Given the description of an element on the screen output the (x, y) to click on. 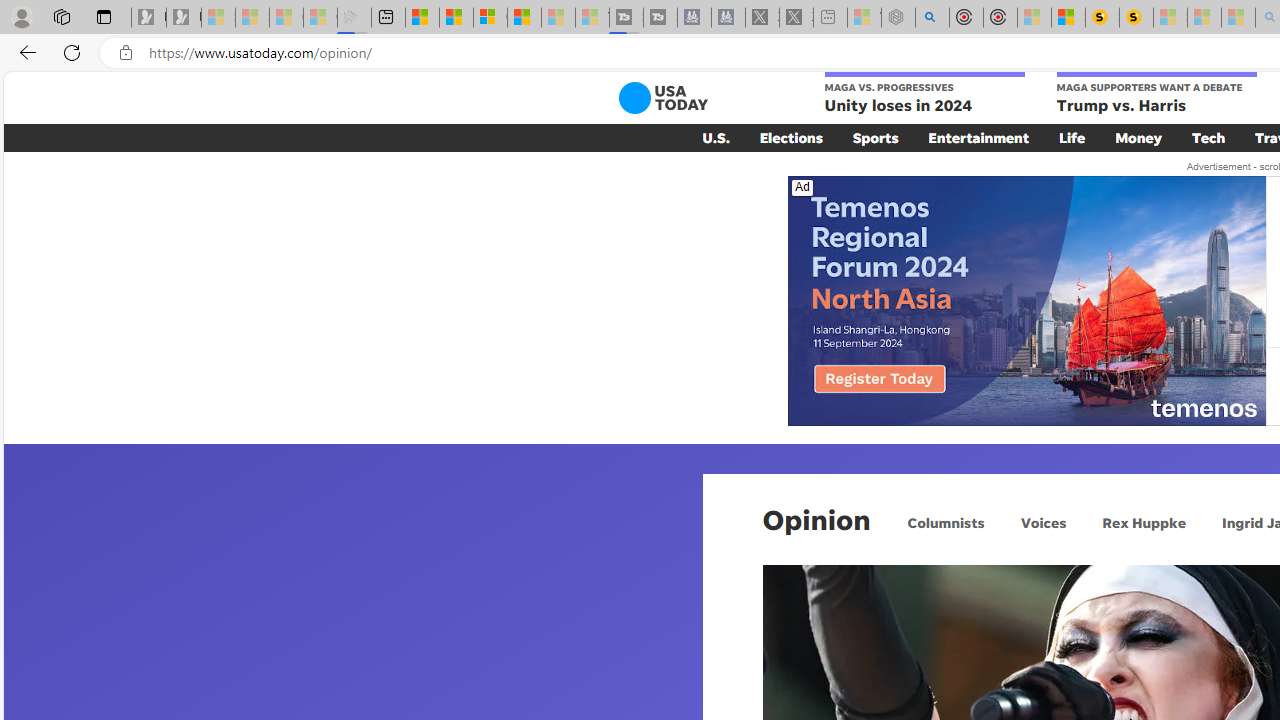
Microsoft Start - Sleeping (557, 17)
